Given the description of an element on the screen output the (x, y) to click on. 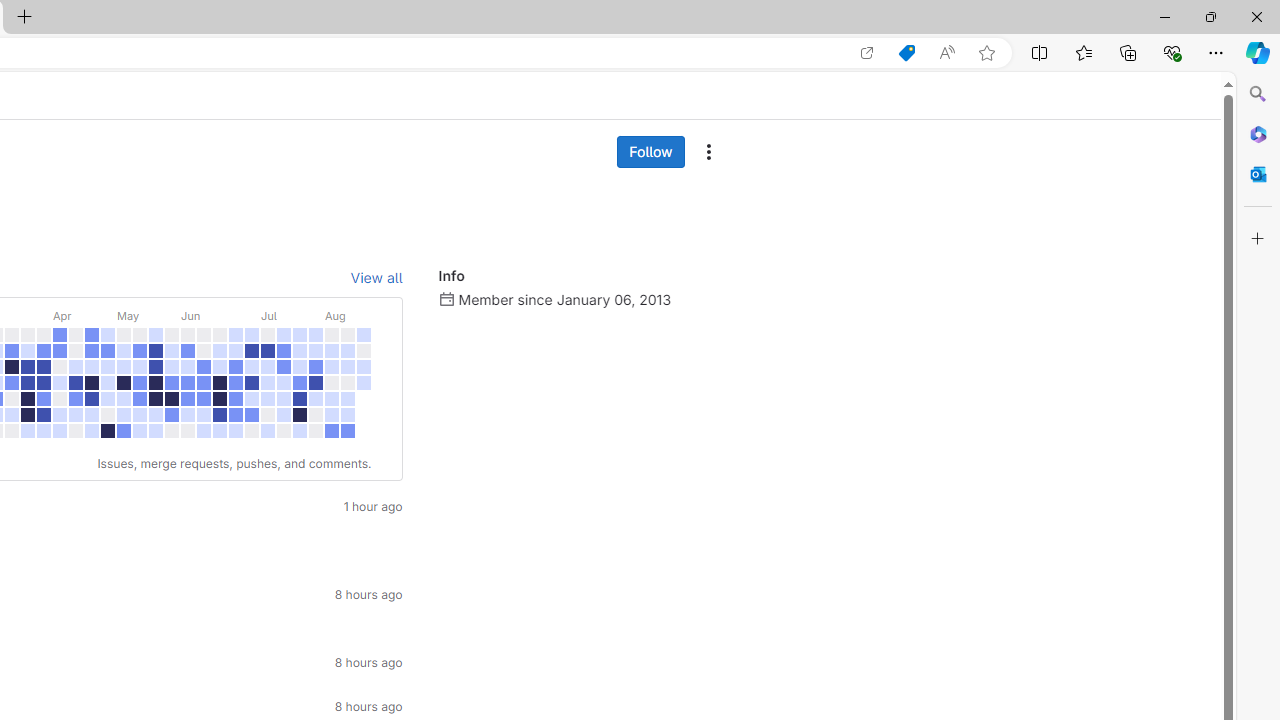
Follow (650, 151)
